Given the description of an element on the screen output the (x, y) to click on. 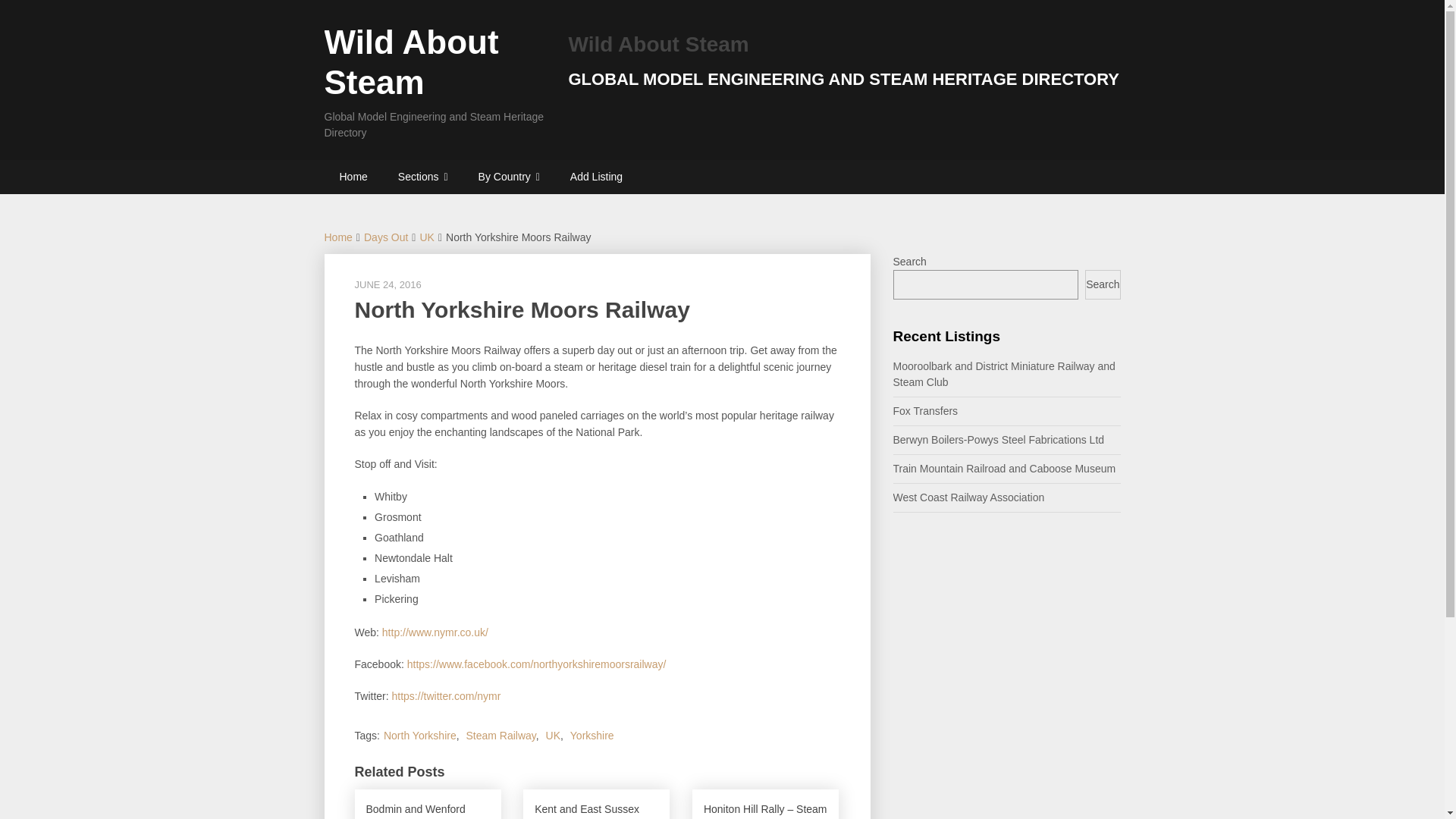
Kent and East Sussex Railway (595, 804)
Wild About Steam (411, 61)
Sections (422, 176)
Bodmin and Wenford Railway (427, 804)
Home (353, 176)
